Given the description of an element on the screen output the (x, y) to click on. 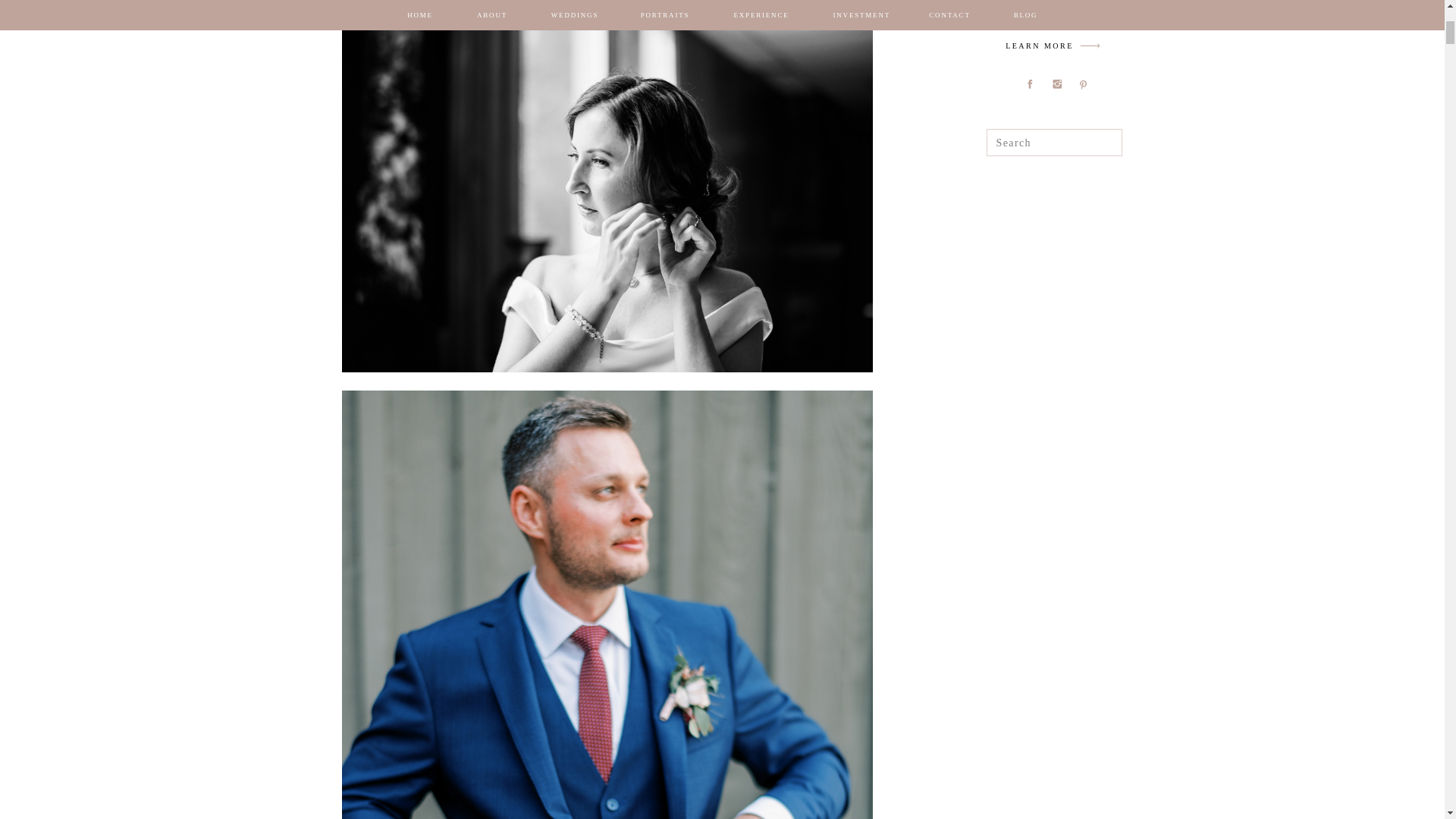
LEARN MORE (1039, 47)
arrow (1089, 45)
arrow (1089, 45)
